Given the description of an element on the screen output the (x, y) to click on. 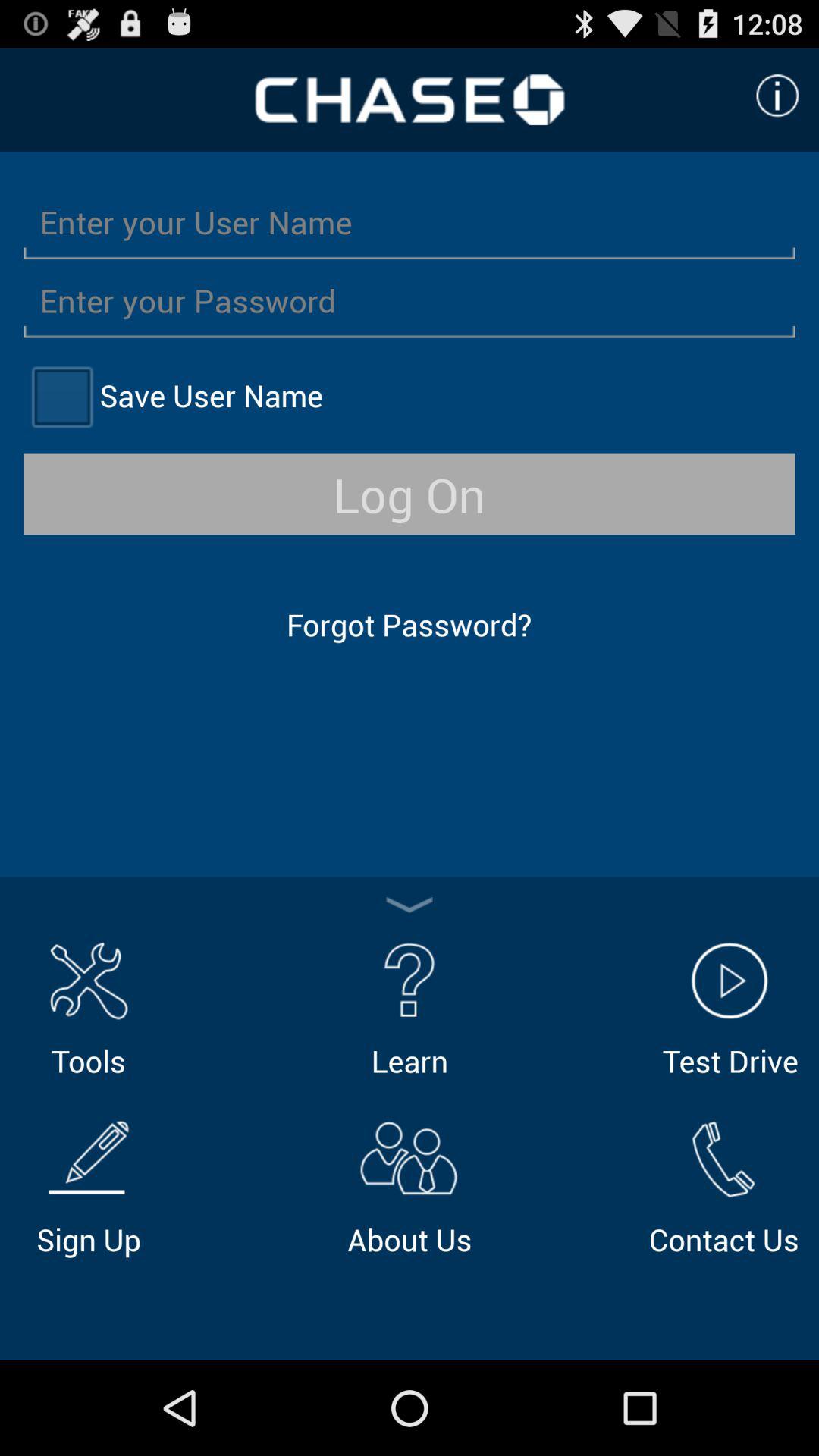
enter password (409, 299)
